Given the description of an element on the screen output the (x, y) to click on. 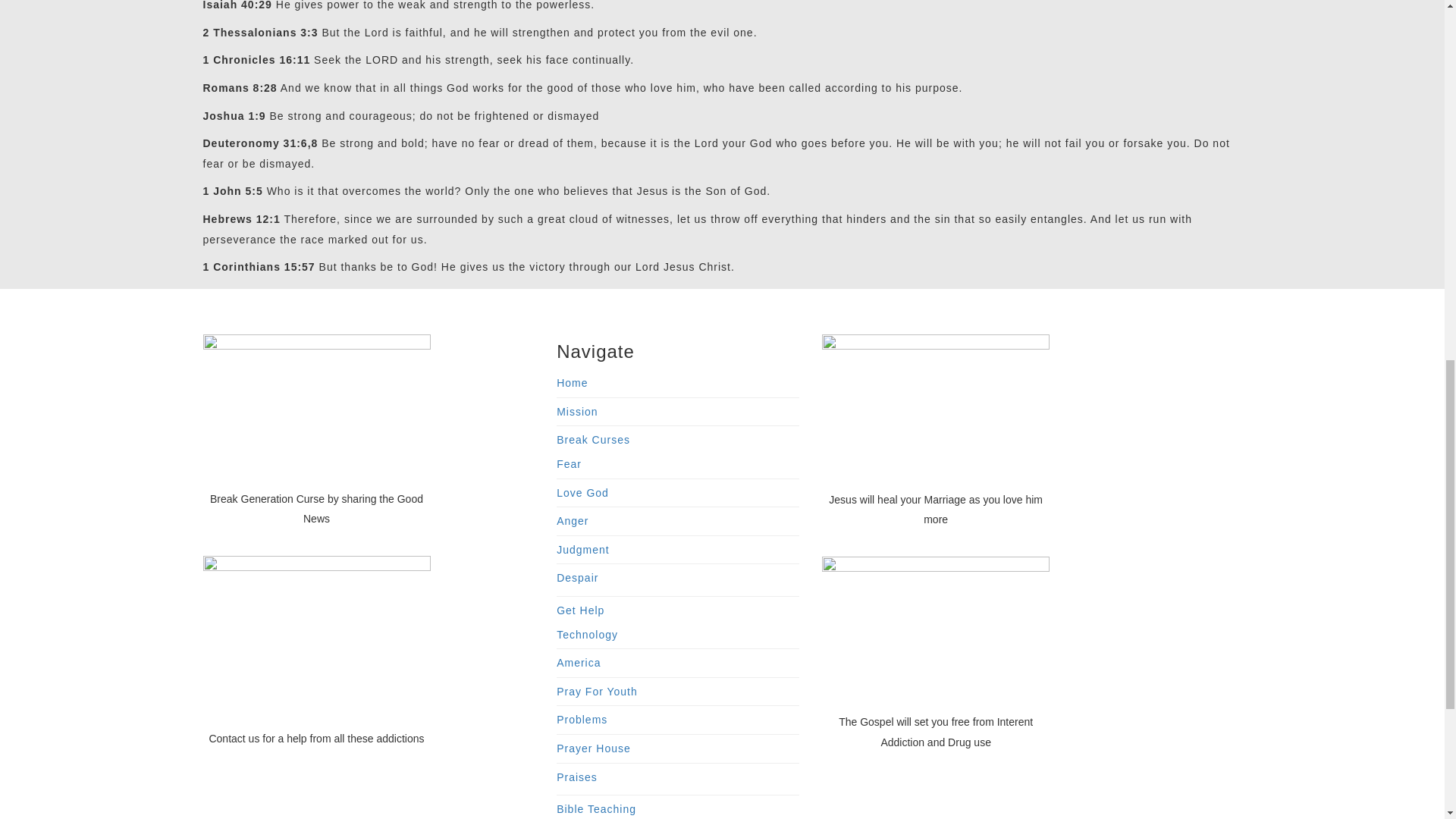
Break Curses (593, 439)
America (577, 662)
Get Help (580, 610)
Problems (581, 719)
Fear (568, 463)
Technology (586, 634)
Pray For Youth (596, 691)
Prayer House (593, 748)
Home (572, 382)
Love God (582, 492)
Praises (576, 776)
Anger (572, 521)
Bible Teaching (596, 808)
Mission (576, 411)
Despair (577, 577)
